Given the description of an element on the screen output the (x, y) to click on. 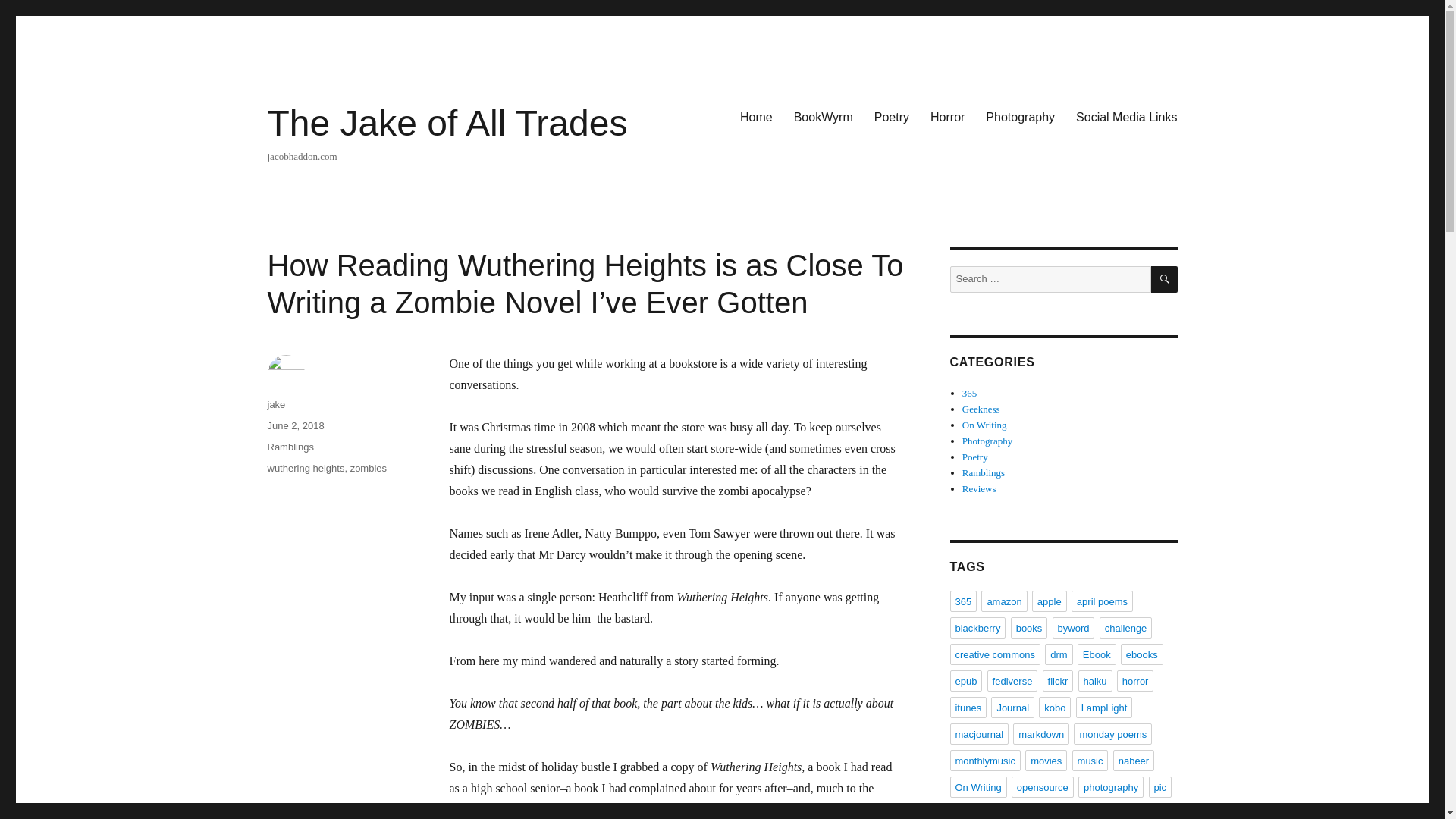
epub (965, 680)
365 (969, 392)
SEARCH (1164, 279)
creative commons (994, 654)
The Jake of All Trades (446, 123)
drm (1058, 654)
BookWyrm (823, 116)
Horror (947, 116)
Home (756, 116)
Poetry (891, 116)
